Given the description of an element on the screen output the (x, y) to click on. 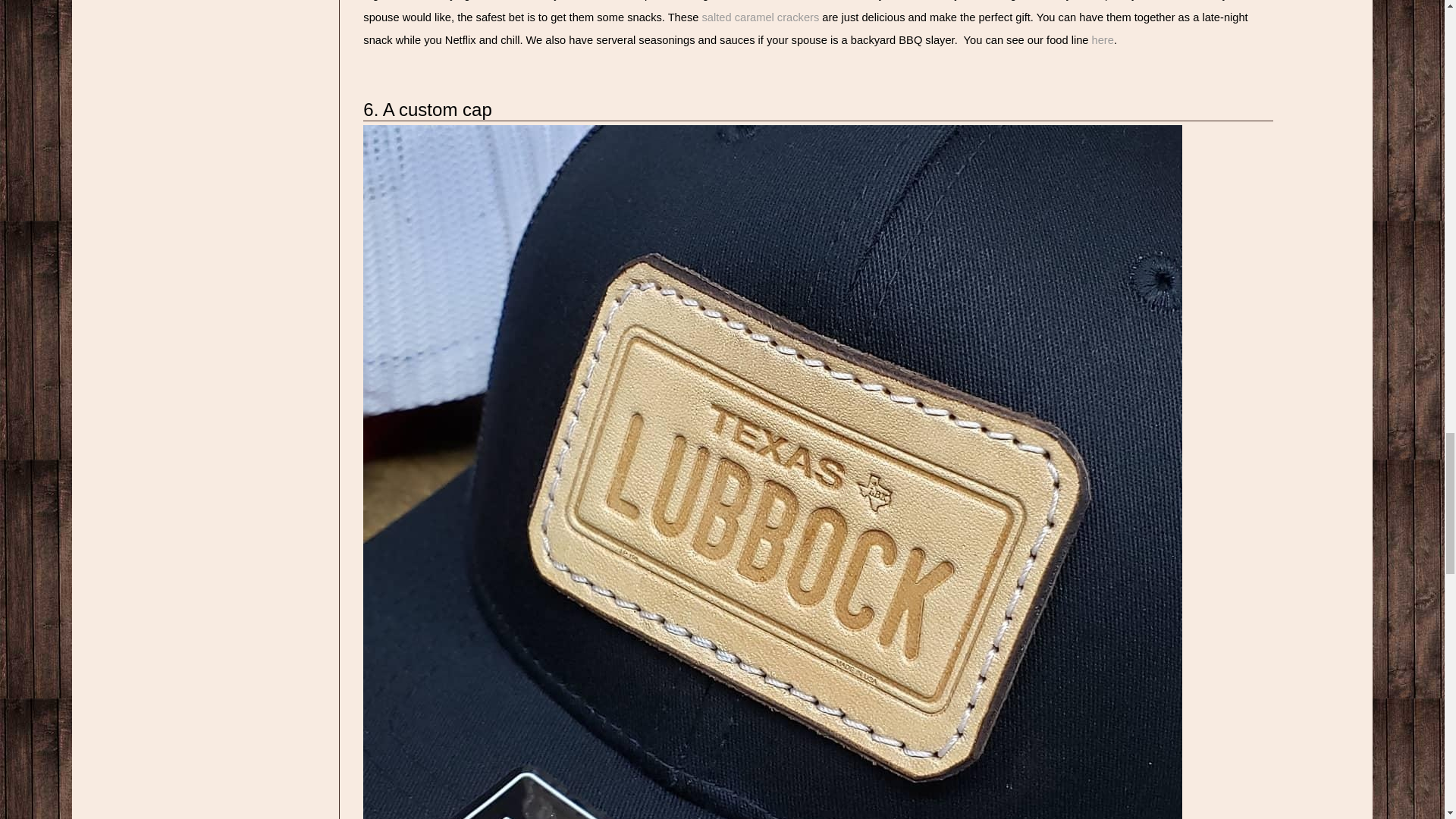
Food Line (1102, 39)
